Given the description of an element on the screen output the (x, y) to click on. 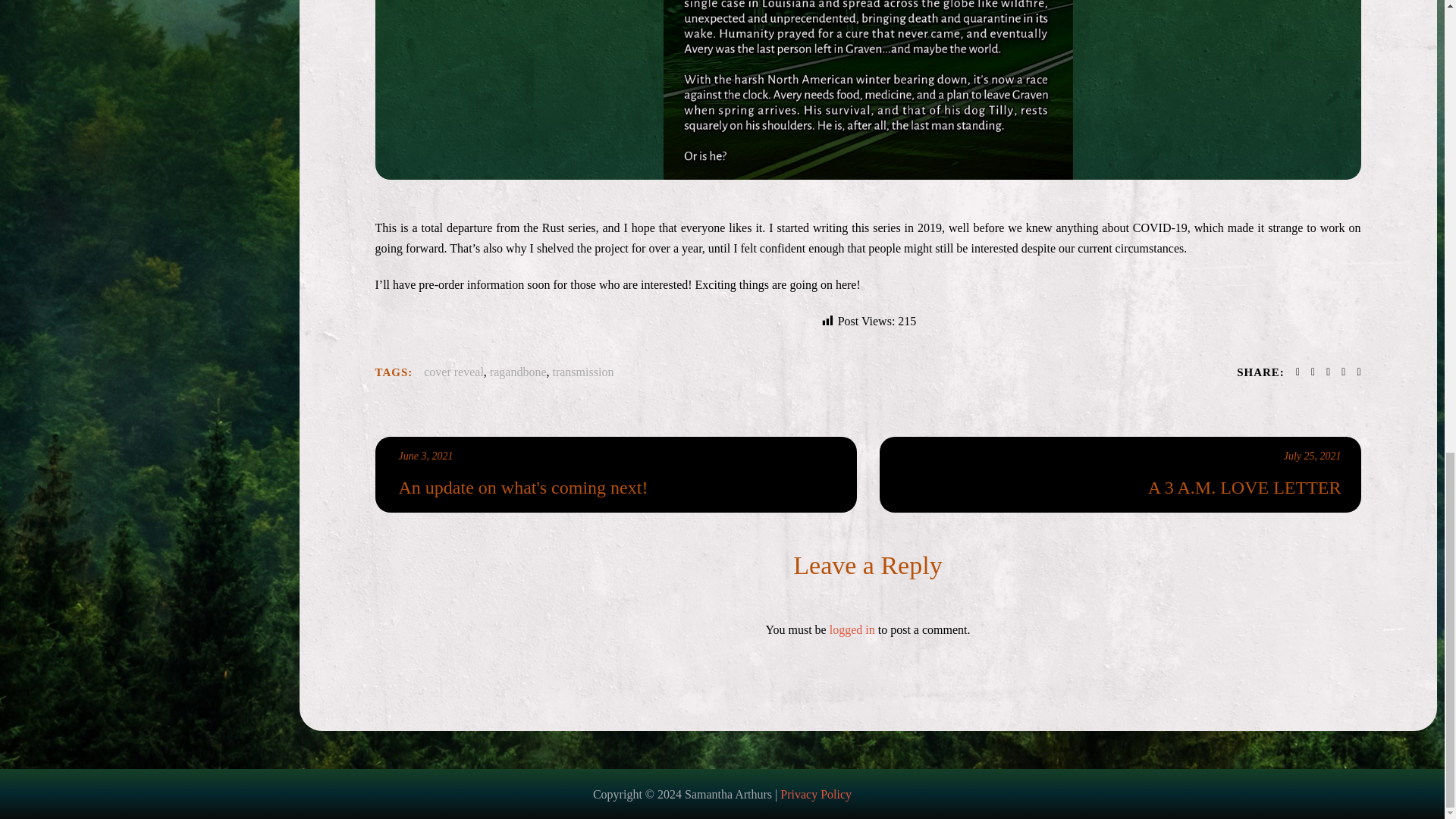
A 3 A.M. LOVE LETTER (1121, 488)
July 25, 2021 (1312, 455)
cover reveal (453, 372)
June 3, 2021 (425, 455)
An update on what's coming next! (617, 488)
transmission (581, 372)
ragandbone (518, 372)
An update on what's coming next! (615, 474)
logged in (852, 629)
